Given the description of an element on the screen output the (x, y) to click on. 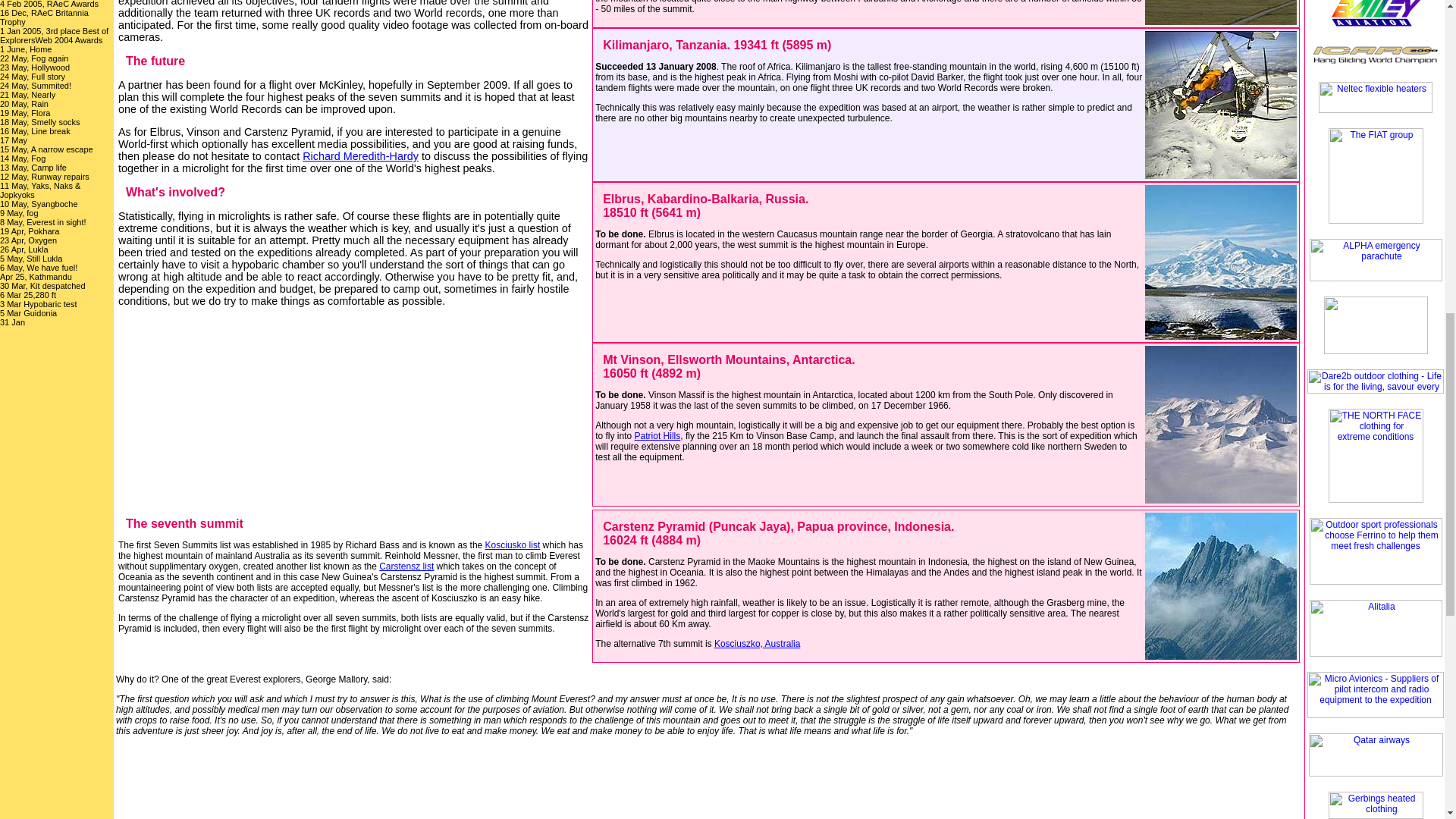
23 May, Hollywood (34, 67)
22 May, Fog again (34, 58)
1 Jan 2005, 3rd place Best of ExplorersWeb 2004 Awards (53, 35)
4 Feb 2005, RAeC Awards (49, 4)
16 Dec, RAeC Britannia Trophy (44, 17)
1 June, Home (25, 49)
